Given the description of an element on the screen output the (x, y) to click on. 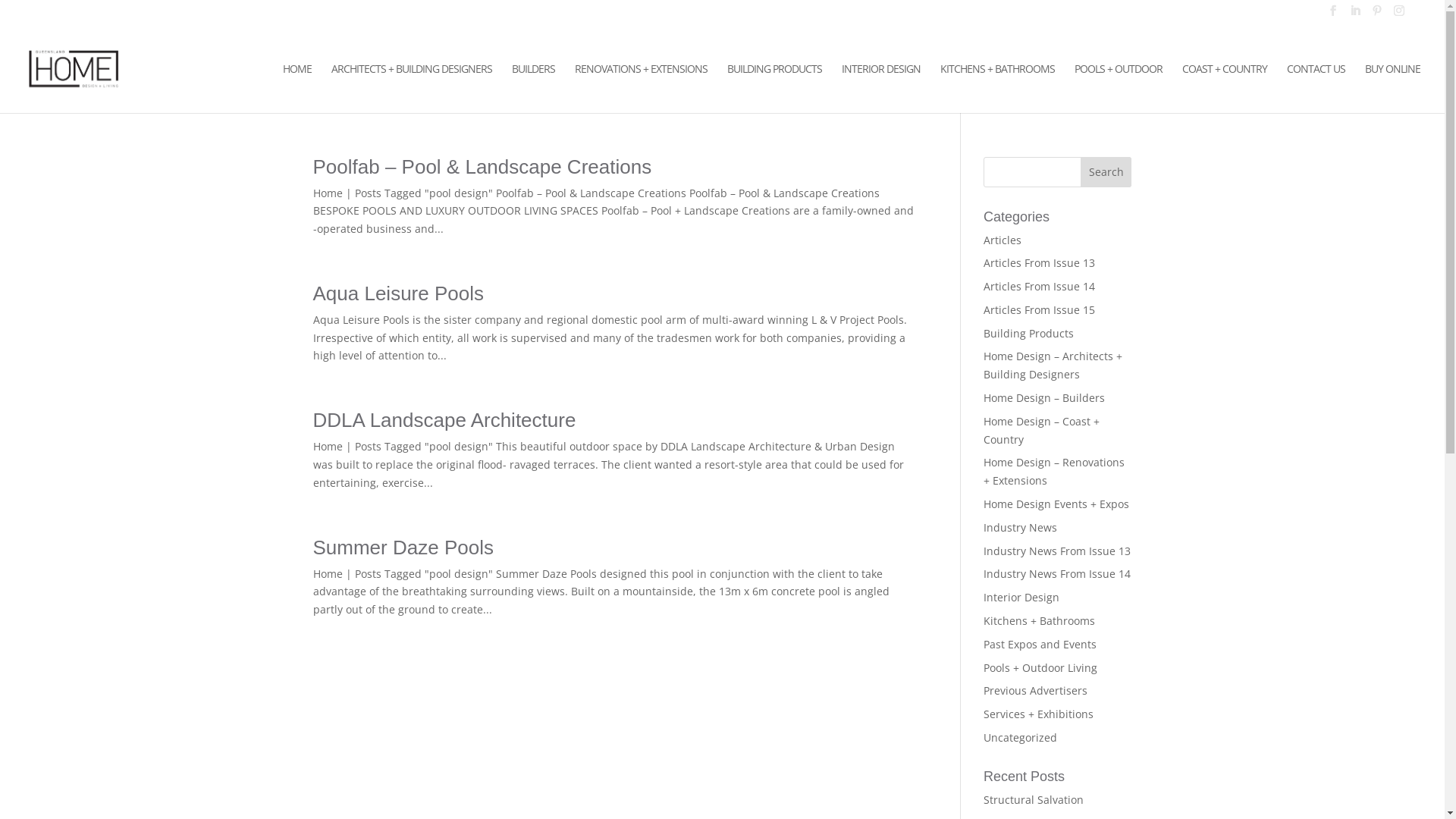
RENOVATIONS + EXTENSIONS Element type: text (640, 87)
BUILDING PRODUCTS Element type: text (774, 87)
POOLS + OUTDOOR Element type: text (1118, 87)
Articles From Issue 14 Element type: text (1039, 286)
Articles From Issue 15 Element type: text (1039, 309)
Summer Daze Pools Element type: text (402, 547)
KITCHENS + BATHROOMS Element type: text (997, 87)
Interior Design Element type: text (1021, 596)
Search Element type: text (1106, 171)
Building Products Element type: text (1028, 333)
Pools + Outdoor Living Element type: text (1040, 667)
INTERIOR DESIGN Element type: text (880, 87)
Aqua Leisure Pools Element type: text (397, 293)
BUY ONLINE Element type: text (1392, 87)
CONTACT US Element type: text (1315, 87)
Past Expos and Events Element type: text (1039, 644)
HOME Element type: text (296, 87)
Uncategorized Element type: text (1020, 737)
ARCHITECTS + BUILDING DESIGNERS Element type: text (411, 87)
Articles From Issue 13 Element type: text (1039, 262)
Industry News From Issue 13 Element type: text (1056, 550)
COAST + COUNTRY Element type: text (1224, 87)
Articles Element type: text (1002, 239)
BUILDERS Element type: text (533, 87)
Industry News Element type: text (1020, 527)
Previous Advertisers Element type: text (1035, 690)
Home Design Events + Expos Element type: text (1056, 503)
DDLA Landscape Architecture Element type: text (443, 419)
Services + Exhibitions Element type: text (1038, 713)
Structural Salvation Element type: text (1033, 799)
Kitchens + Bathrooms Element type: text (1039, 620)
Industry News From Issue 14 Element type: text (1056, 573)
